Given the description of an element on the screen output the (x, y) to click on. 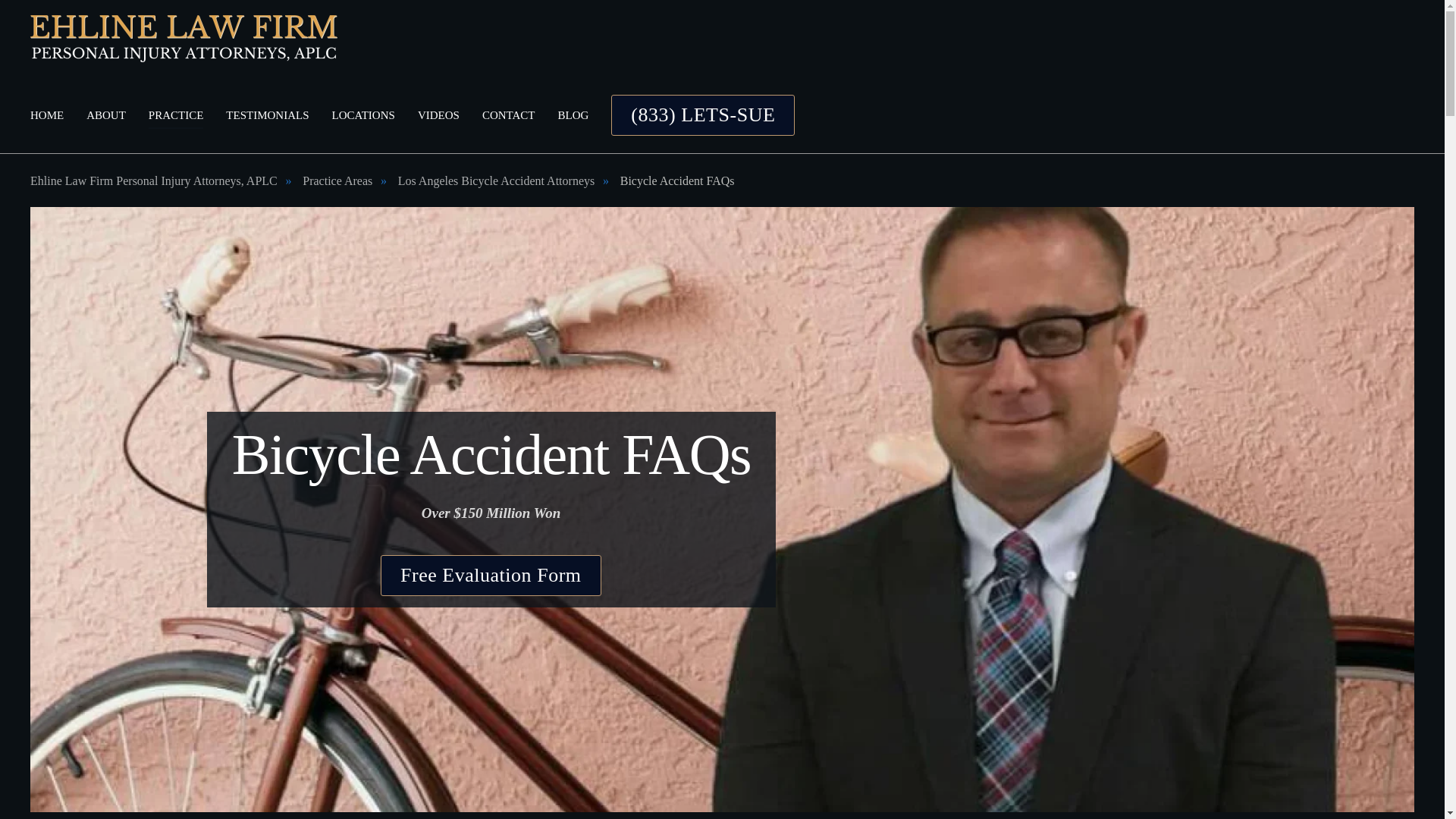
PRACTICE (175, 115)
